Given the description of an element on the screen output the (x, y) to click on. 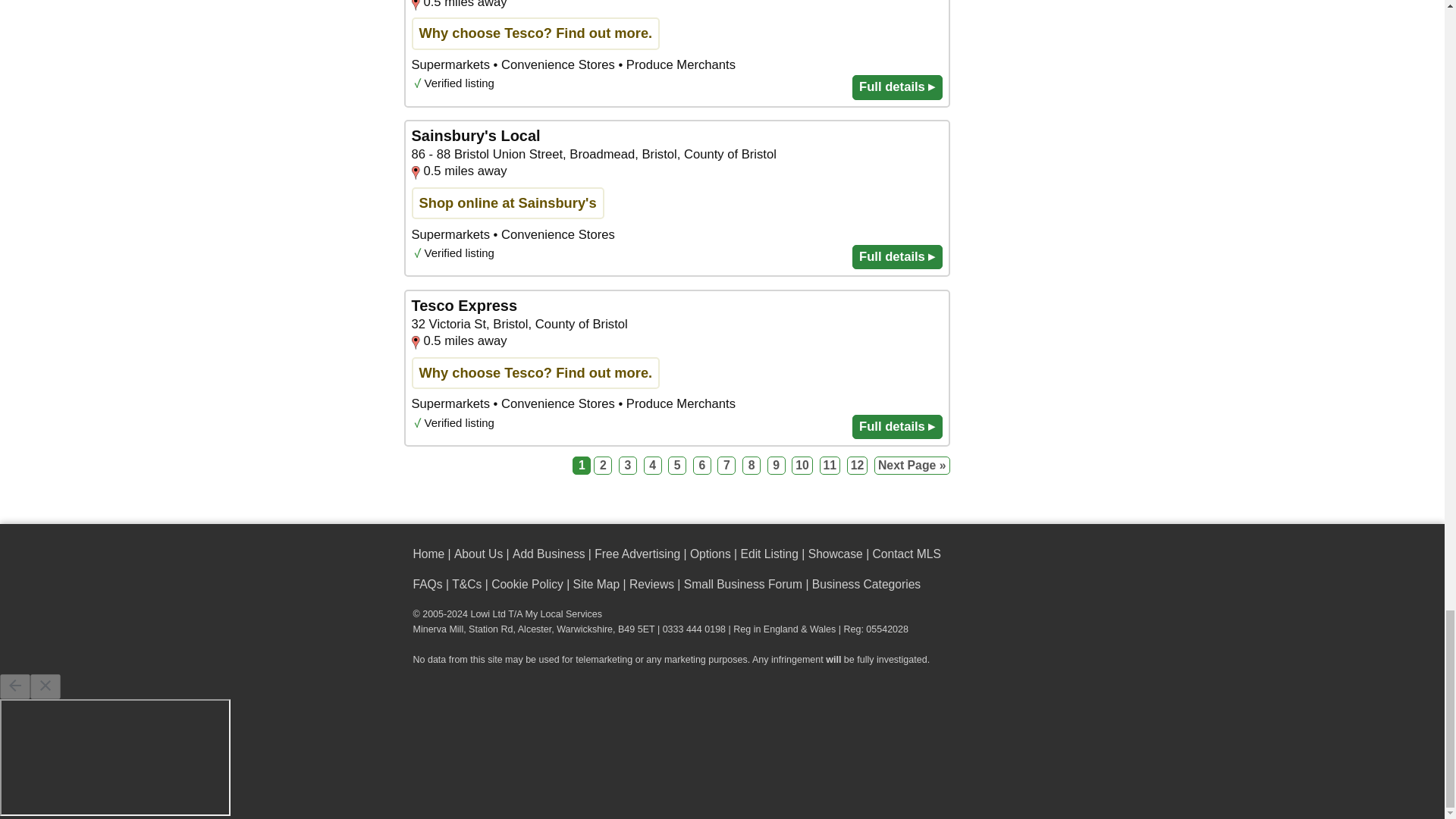
Click to view the full details for Tesco Express (676, 53)
Click to view the full details for Sainsbury's Local (676, 197)
